Given the description of an element on the screen output the (x, y) to click on. 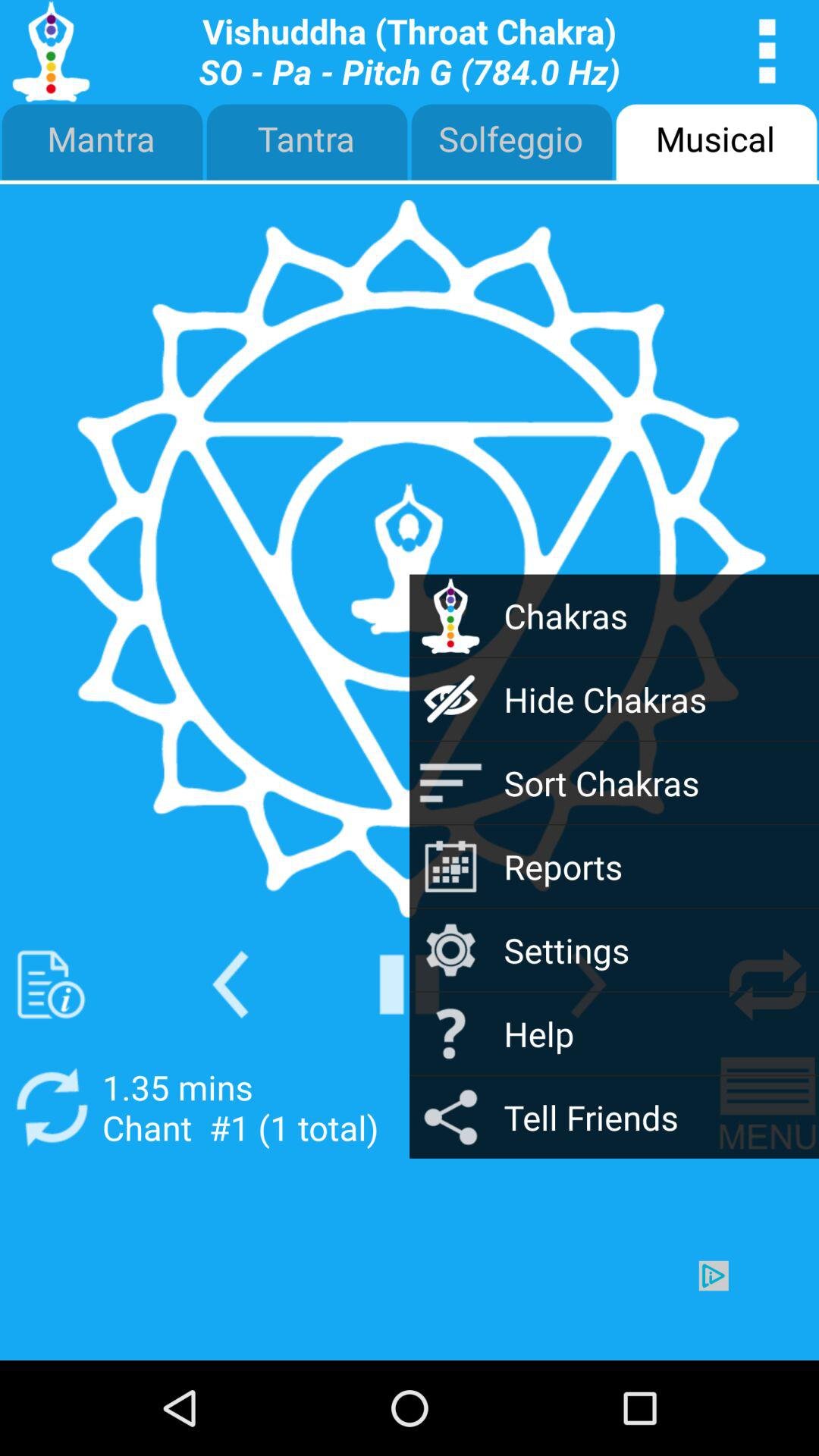
twitter (51, 984)
